Given the description of an element on the screen output the (x, y) to click on. 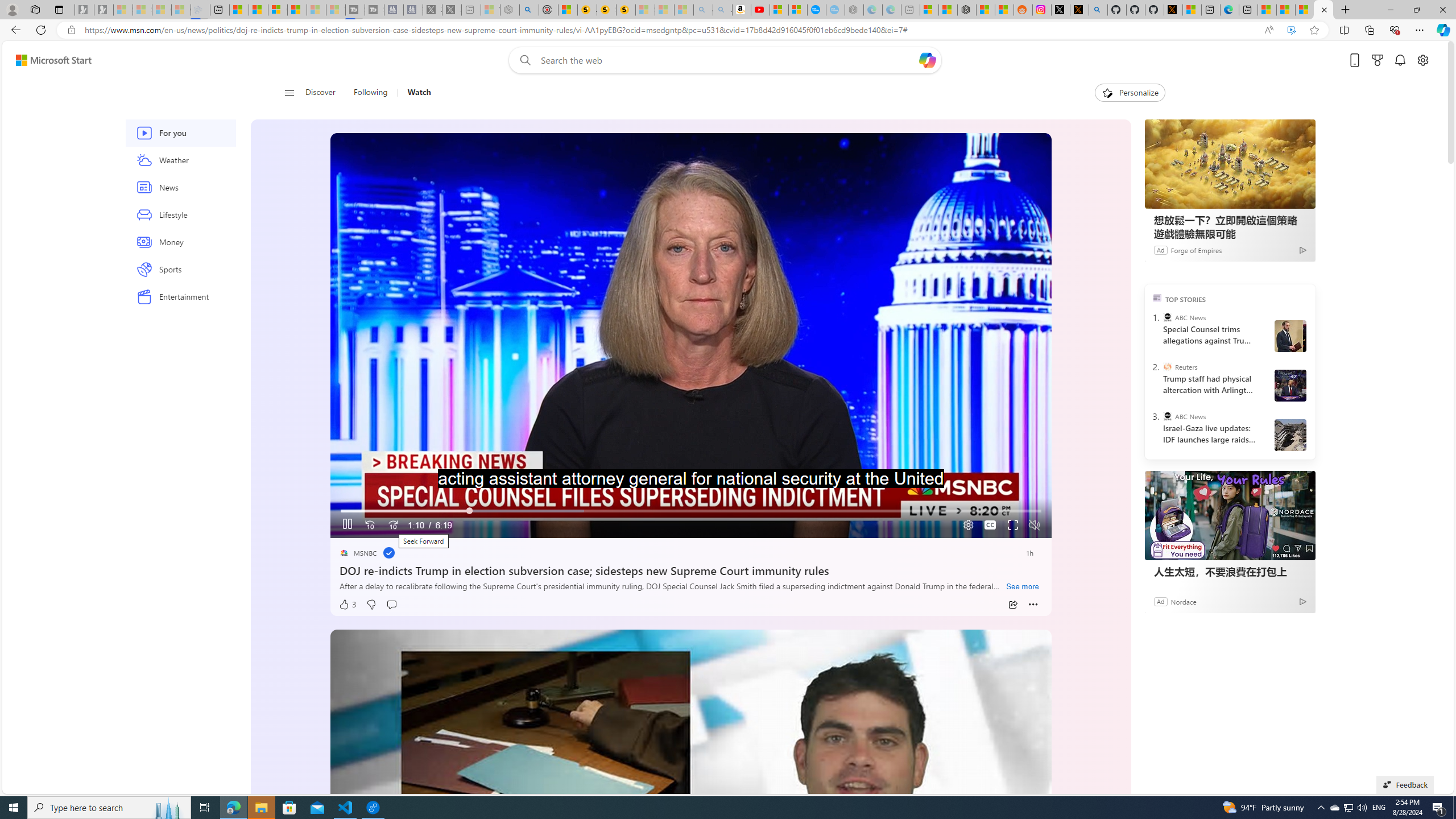
Dislike (371, 604)
Welcome to Microsoft Edge (1229, 9)
Overview (277, 9)
Watch (418, 92)
Michelle Starr, Senior Journalist at ScienceAlert (625, 9)
Log in to X / X (1060, 9)
Start the conversation (391, 604)
